Given the description of an element on the screen output the (x, y) to click on. 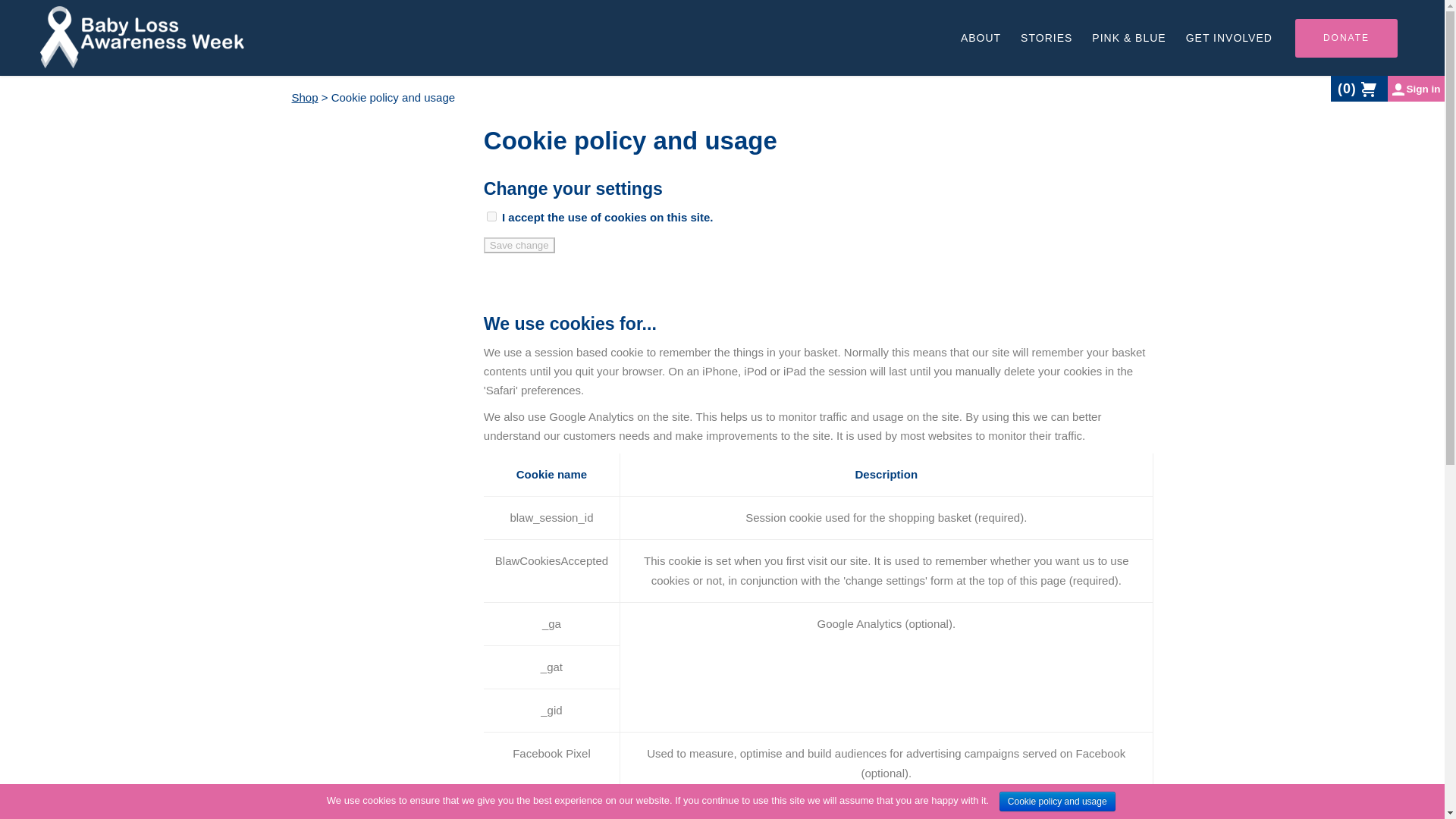
Save change (518, 245)
DONATE (1346, 37)
Save change (518, 245)
GET INVOLVED (1229, 38)
Shop (304, 97)
1 (491, 216)
STORIES (1045, 38)
